Given the description of an element on the screen output the (x, y) to click on. 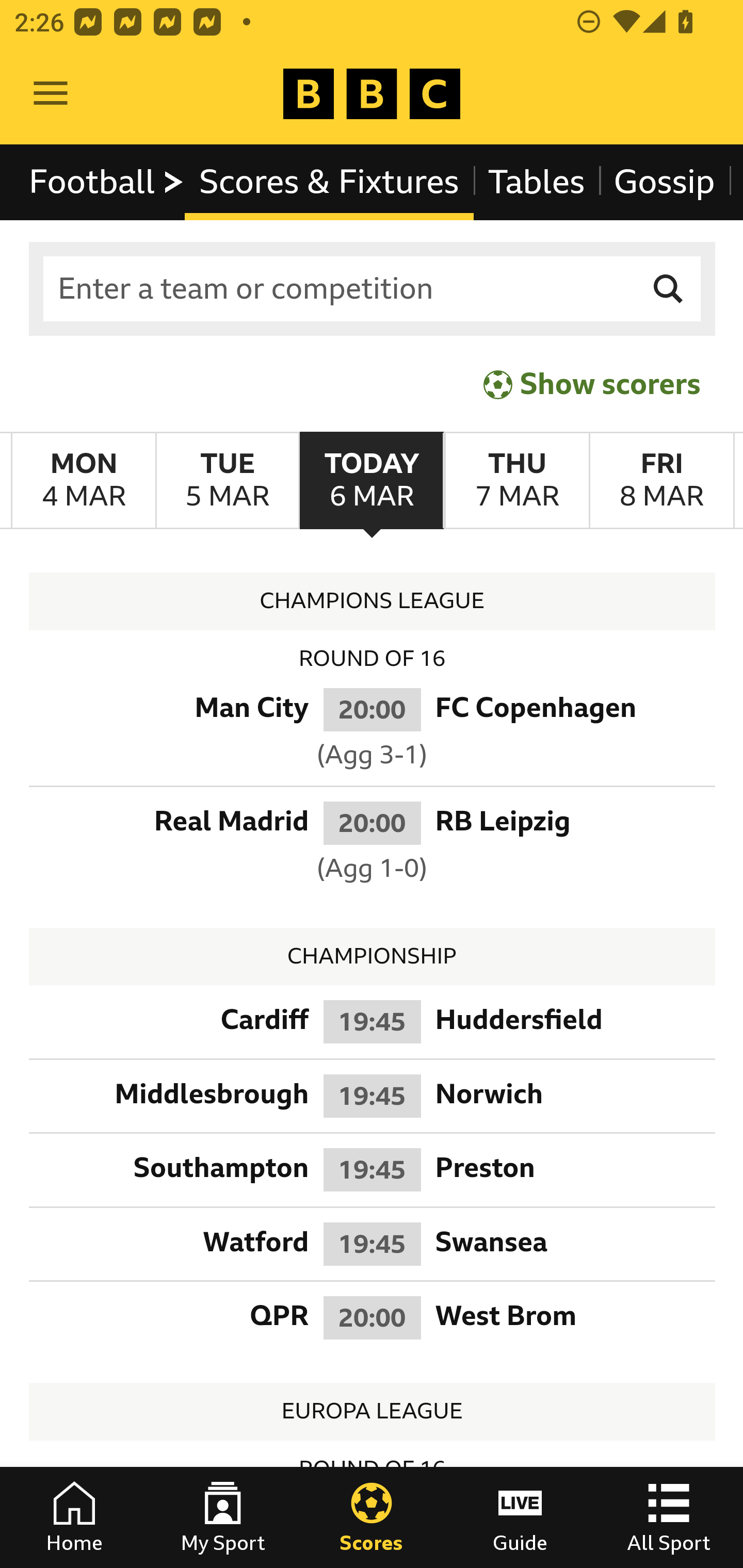
Open Menu (50, 93)
Football  (106, 181)
Scores & Fixtures (329, 181)
Tables (536, 181)
Gossip (664, 181)
Search (669, 289)
Show scorers (591, 383)
MondayMarch 4th Monday March 4th (83, 480)
TuesdayMarch 5th Tuesday March 5th (227, 480)
ThursdayMarch 7th Thursday March 7th (516, 480)
FridayMarch 8th Friday March 8th (661, 480)
Home (74, 1517)
My Sport (222, 1517)
Guide (519, 1517)
All Sport (668, 1517)
